Given the description of an element on the screen output the (x, y) to click on. 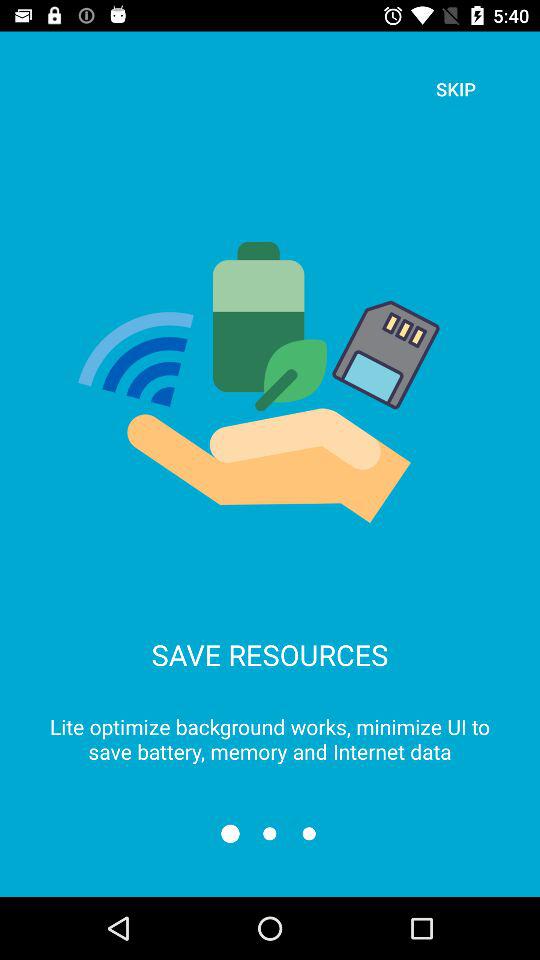
about app last page (308, 833)
